Given the description of an element on the screen output the (x, y) to click on. 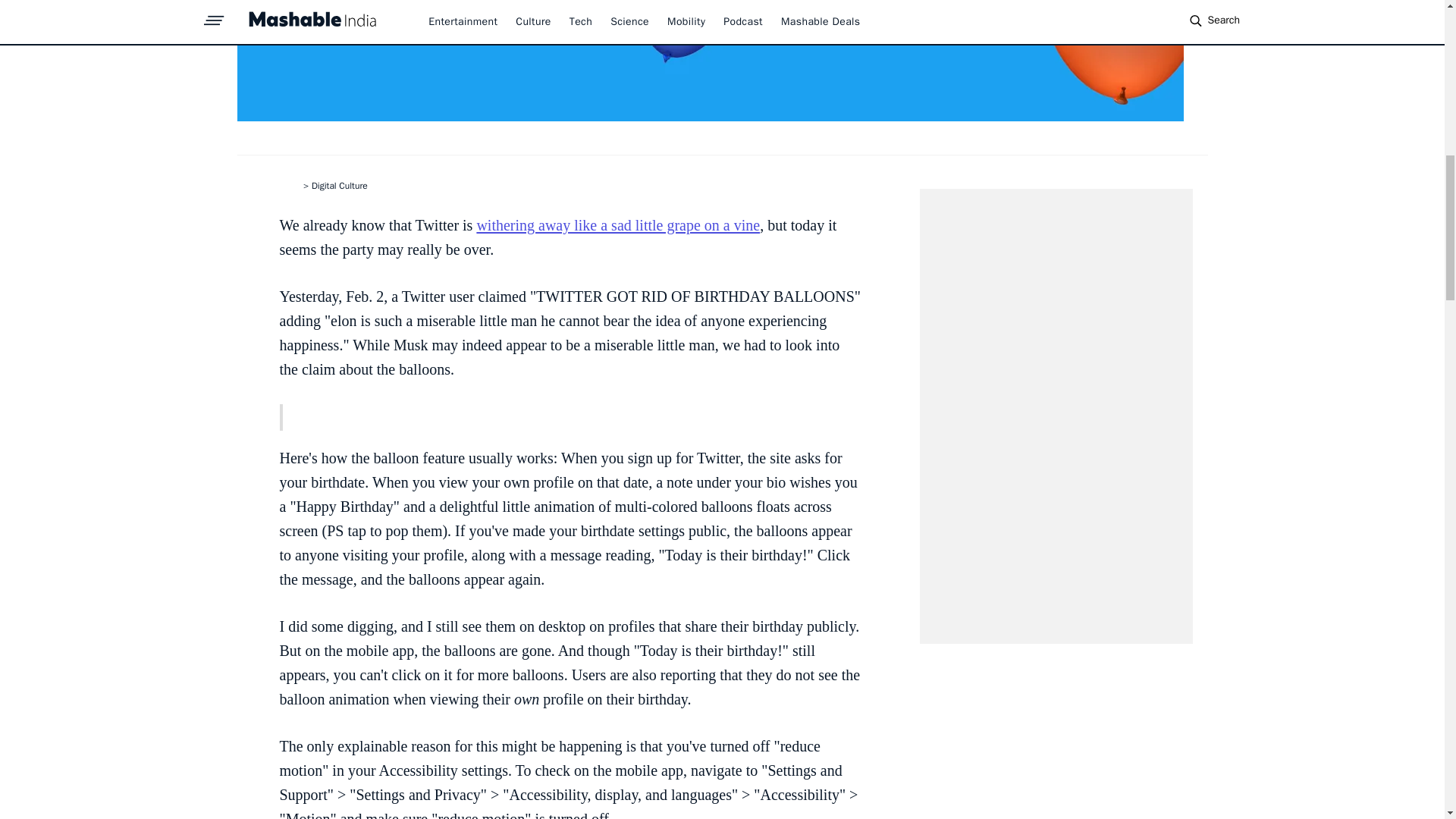
withering away like a sad little grape on a vine (618, 225)
